Given the description of an element on the screen output the (x, y) to click on. 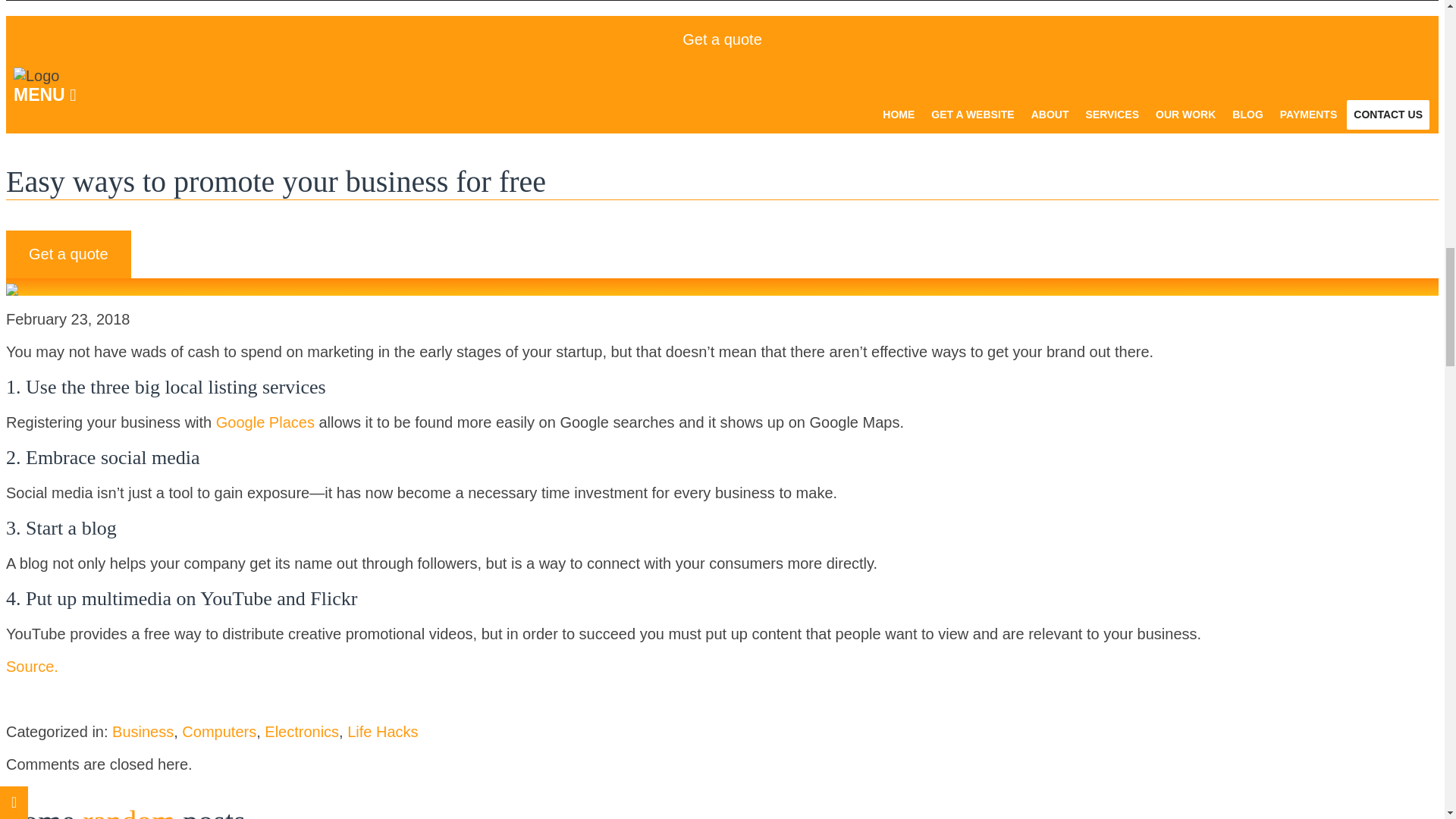
Business (142, 731)
Source.  (33, 666)
MENU (722, 95)
ABOUT (1050, 114)
OUR WORK (1185, 114)
Electronics (301, 731)
Computers (219, 731)
BLOG (1247, 114)
Google Places (264, 422)
Get a quote (68, 254)
SERVICES (1111, 114)
PAYMENTS (1307, 114)
HOME (898, 114)
Life Hacks (382, 731)
GET A WEBSITE (972, 114)
